Given the description of an element on the screen output the (x, y) to click on. 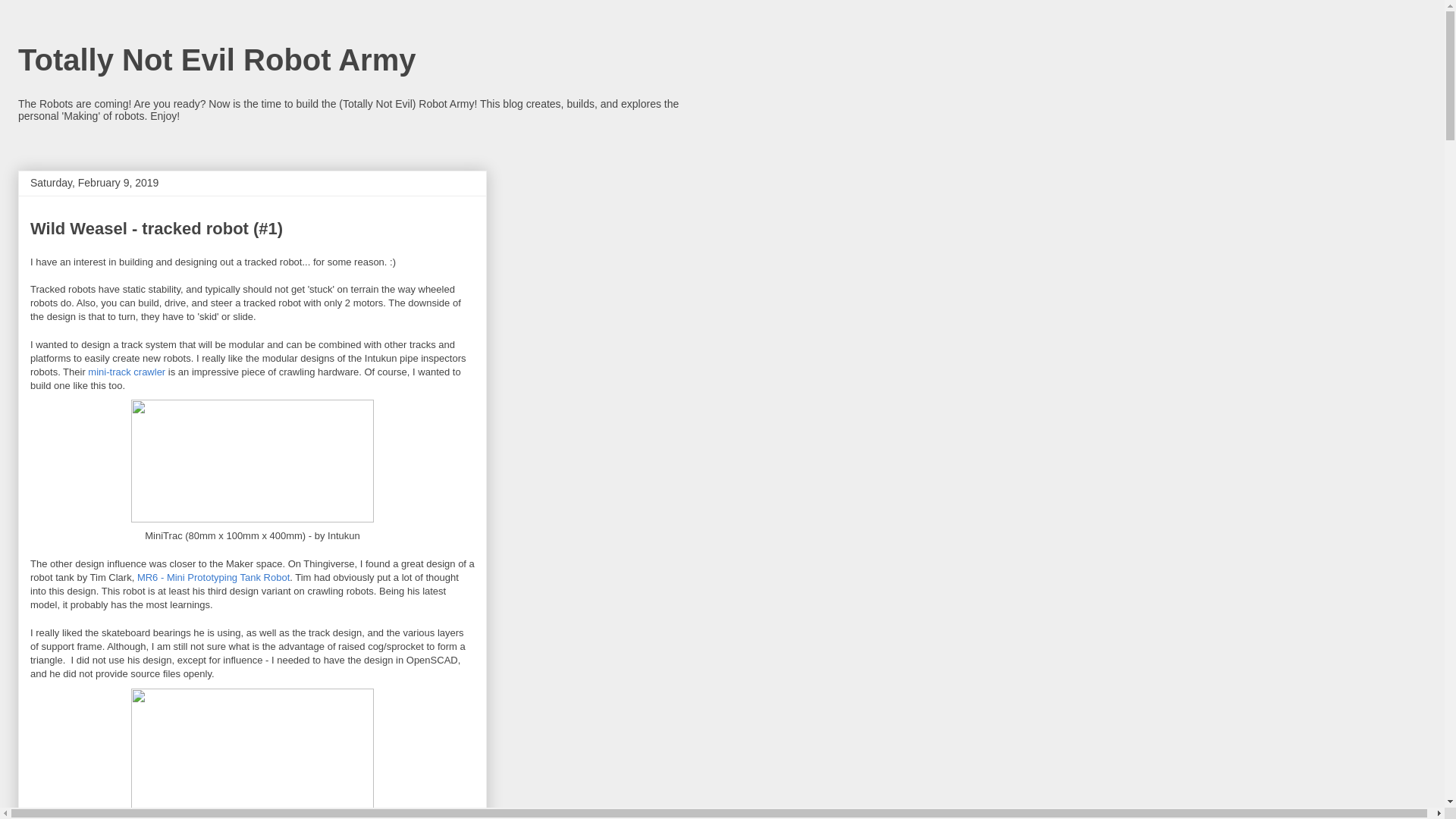
mini-track crawler (126, 371)
MR6 - Mini Prototyping Tank Robot (212, 577)
Totally Not Evil Robot Army (215, 59)
